Given the description of an element on the screen output the (x, y) to click on. 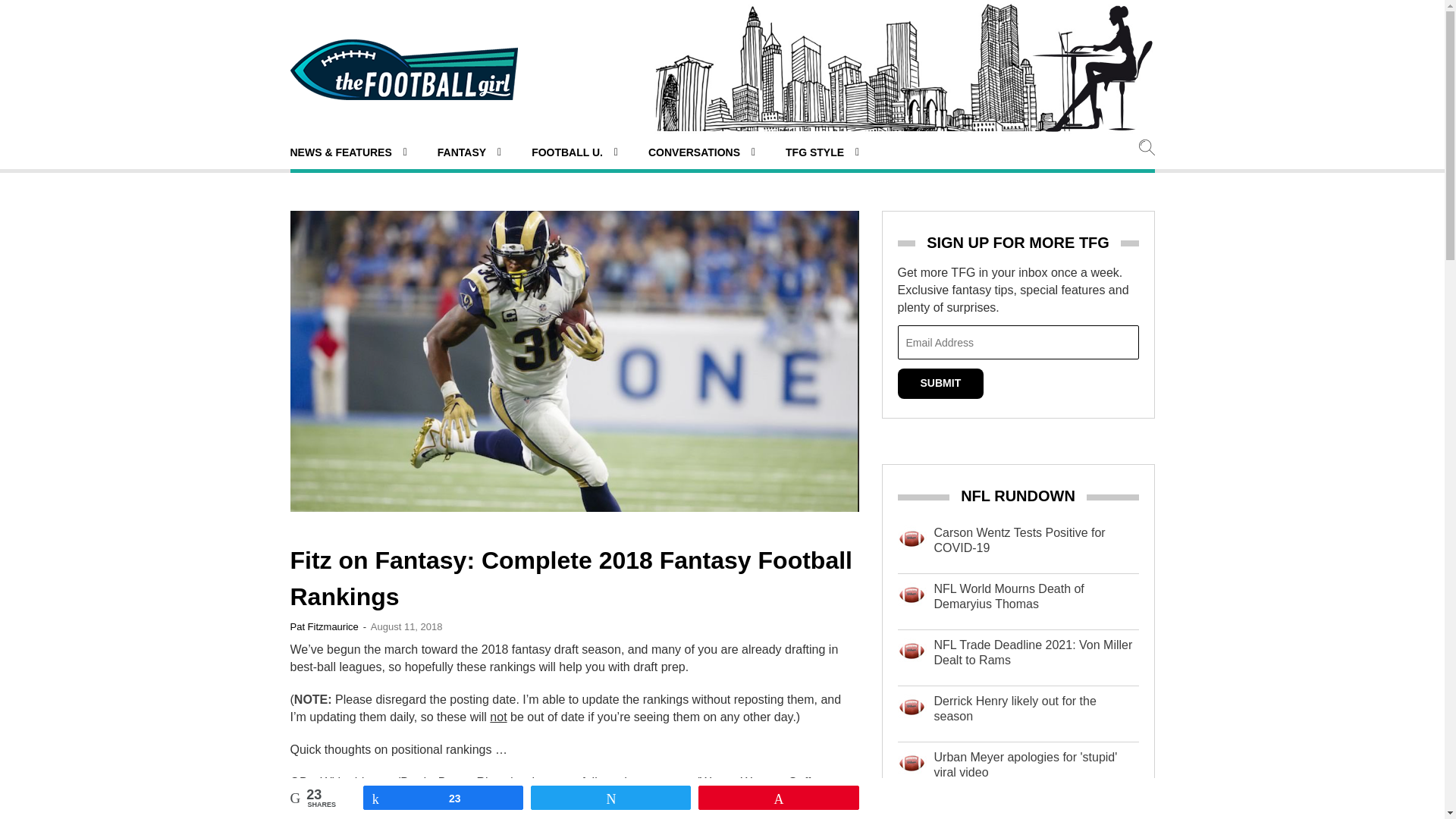
FANTASY (469, 152)
TFG STYLE (822, 152)
Pat Fitzmaurice (323, 626)
FOOTBALL U. (574, 152)
CONVERSATIONS (701, 152)
